Given the description of an element on the screen output the (x, y) to click on. 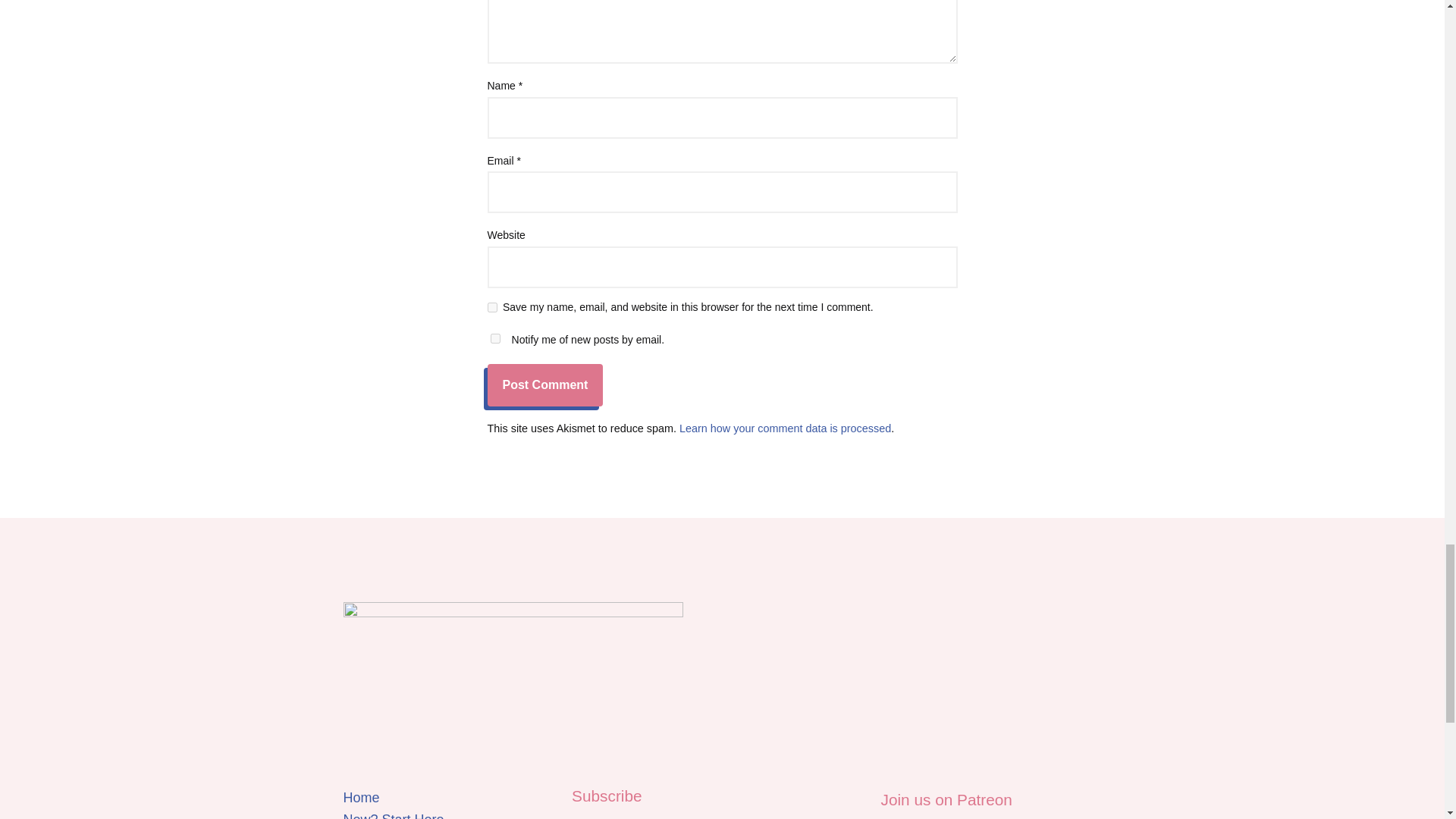
yes (491, 307)
subscribe (494, 338)
Post Comment (544, 384)
